Given the description of an element on the screen output the (x, y) to click on. 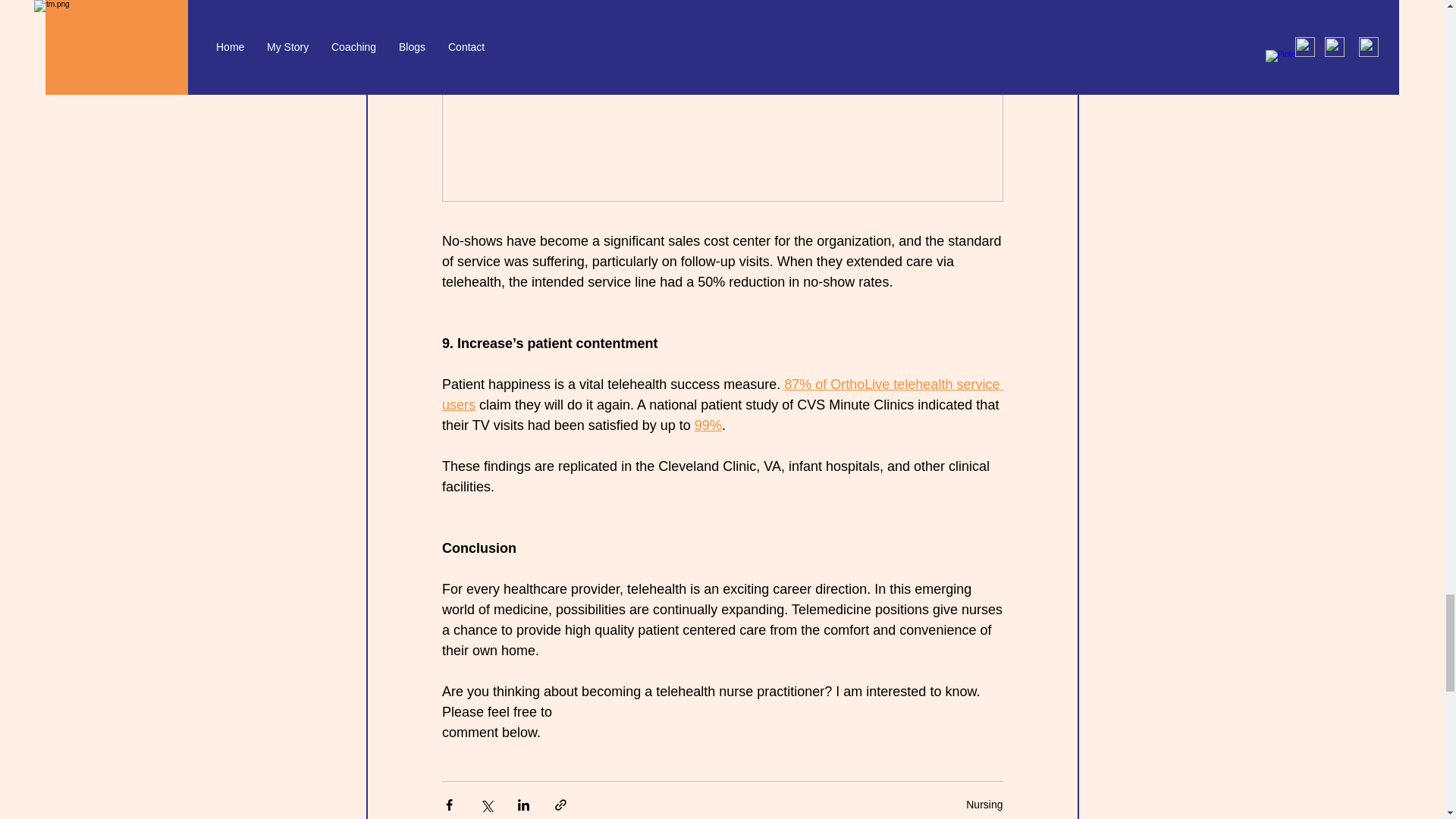
Nursing (984, 804)
